Given the description of an element on the screen output the (x, y) to click on. 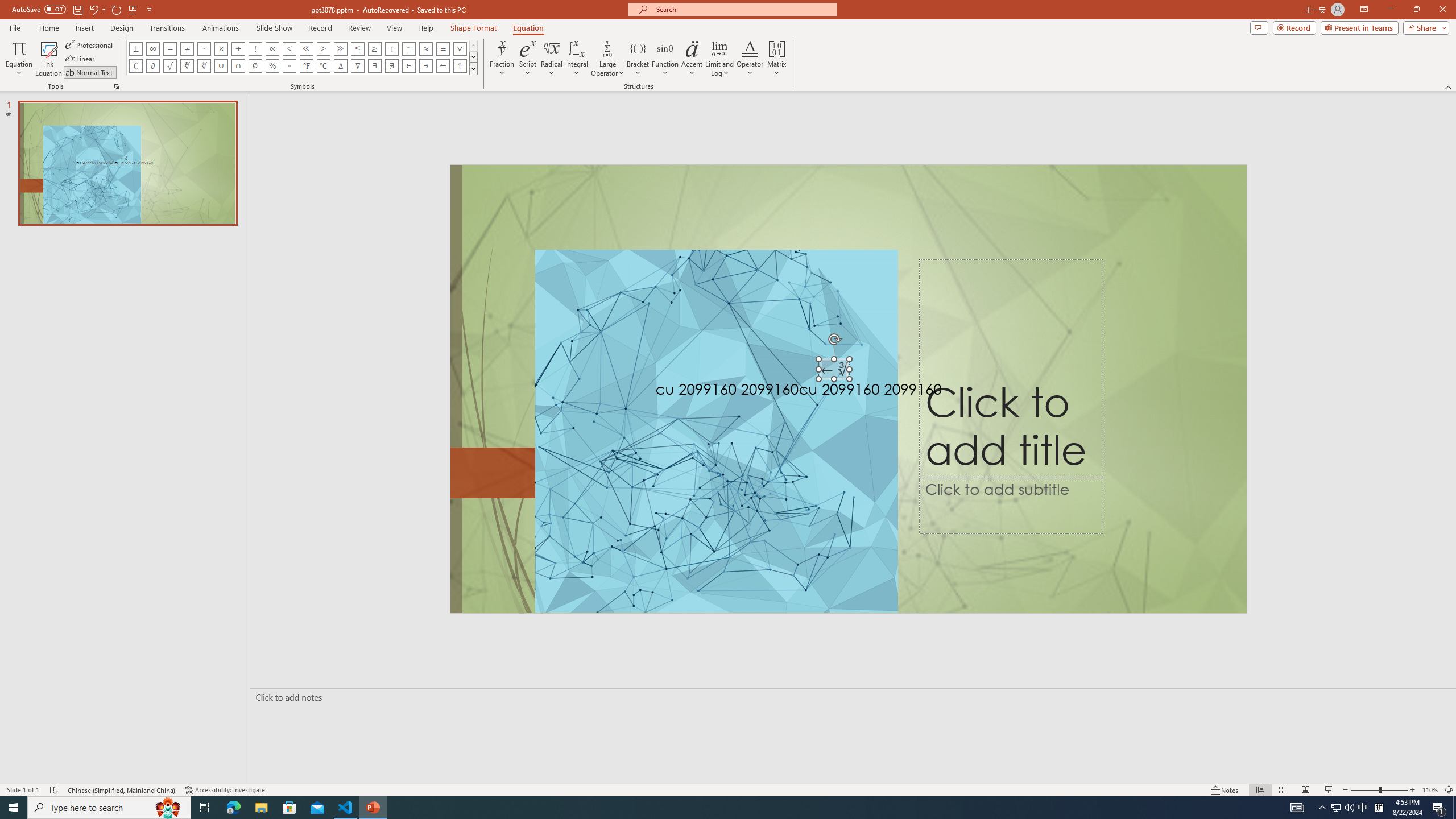
Equation Symbol There Does Not Exist (391, 65)
Script (527, 58)
Fraction (502, 58)
Equation Symbol Less Than (289, 48)
Bracket (638, 58)
Equation Symbol Much Greater Than (340, 48)
Equation Symbol Infinity (152, 48)
Radical (552, 58)
Equation Symbol There Exists (374, 65)
